Given the description of an element on the screen output the (x, y) to click on. 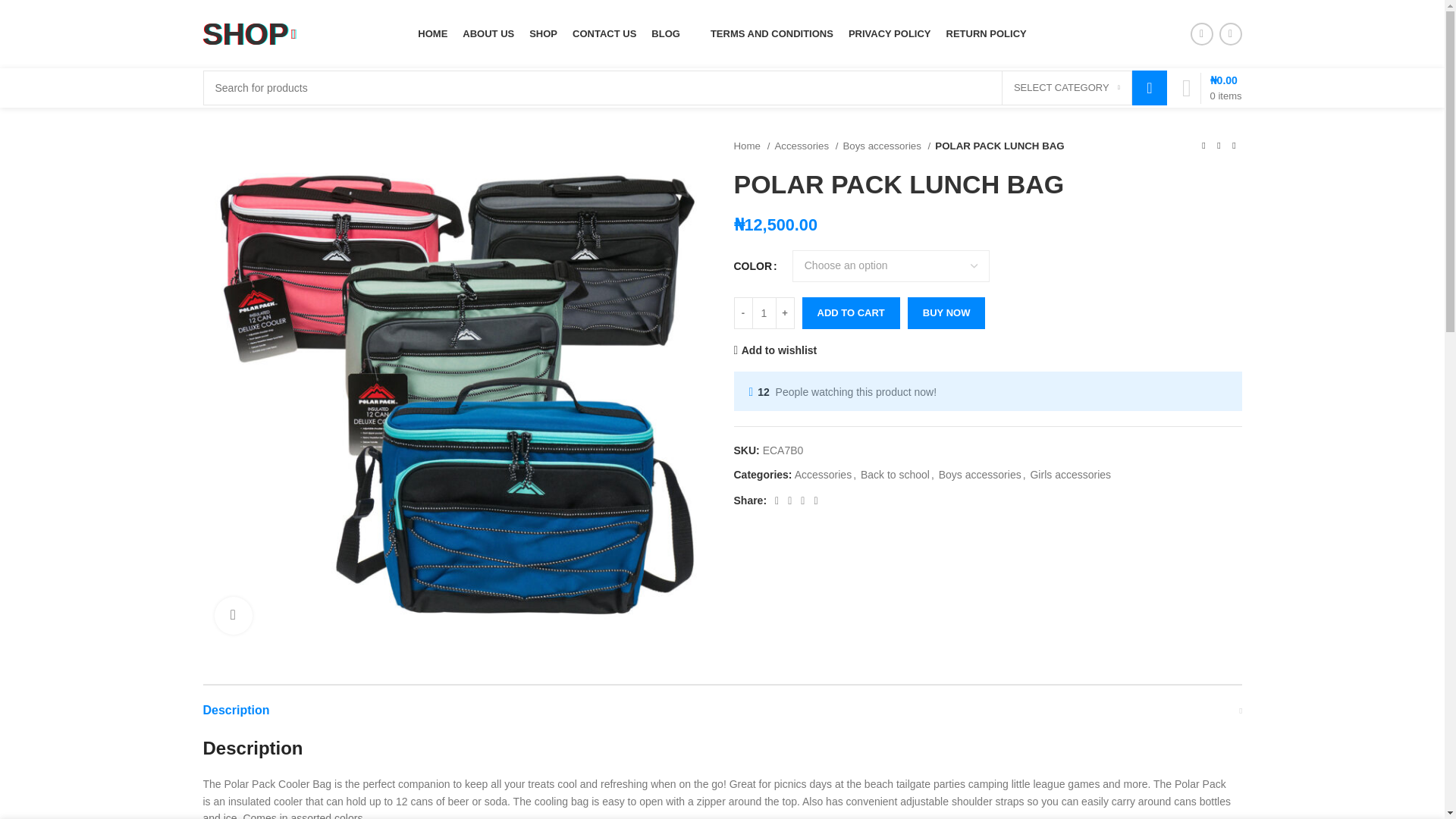
HOME (431, 33)
Search for products (685, 87)
SHOP (543, 33)
CONTACT US (604, 33)
SELECT CATEGORY (1066, 87)
Shopping cart (1211, 88)
ABOUT US (488, 33)
SHOP (250, 33)
